Given the description of an element on the screen output the (x, y) to click on. 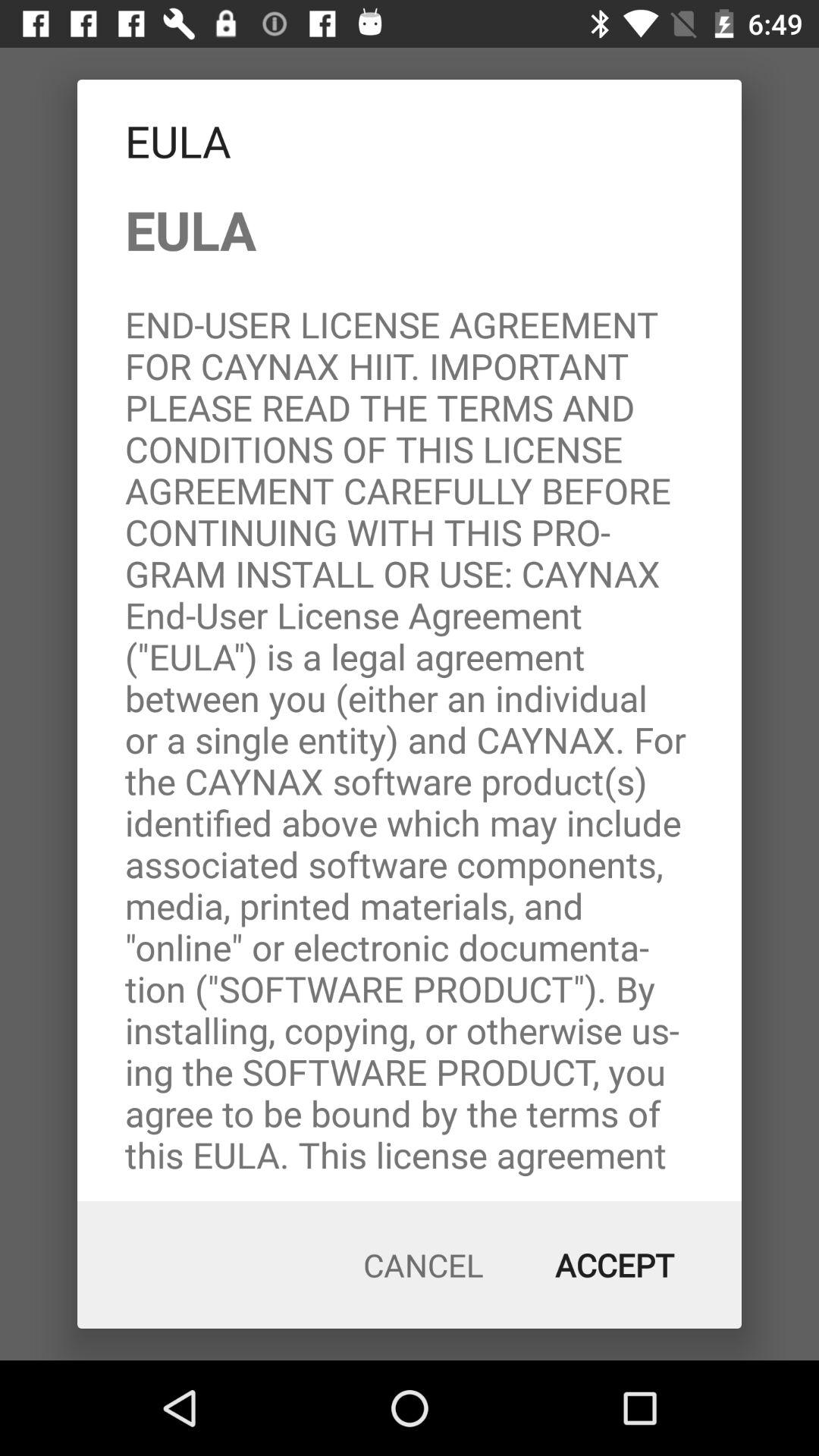
select item at the bottom (422, 1264)
